Given the description of an element on the screen output the (x, y) to click on. 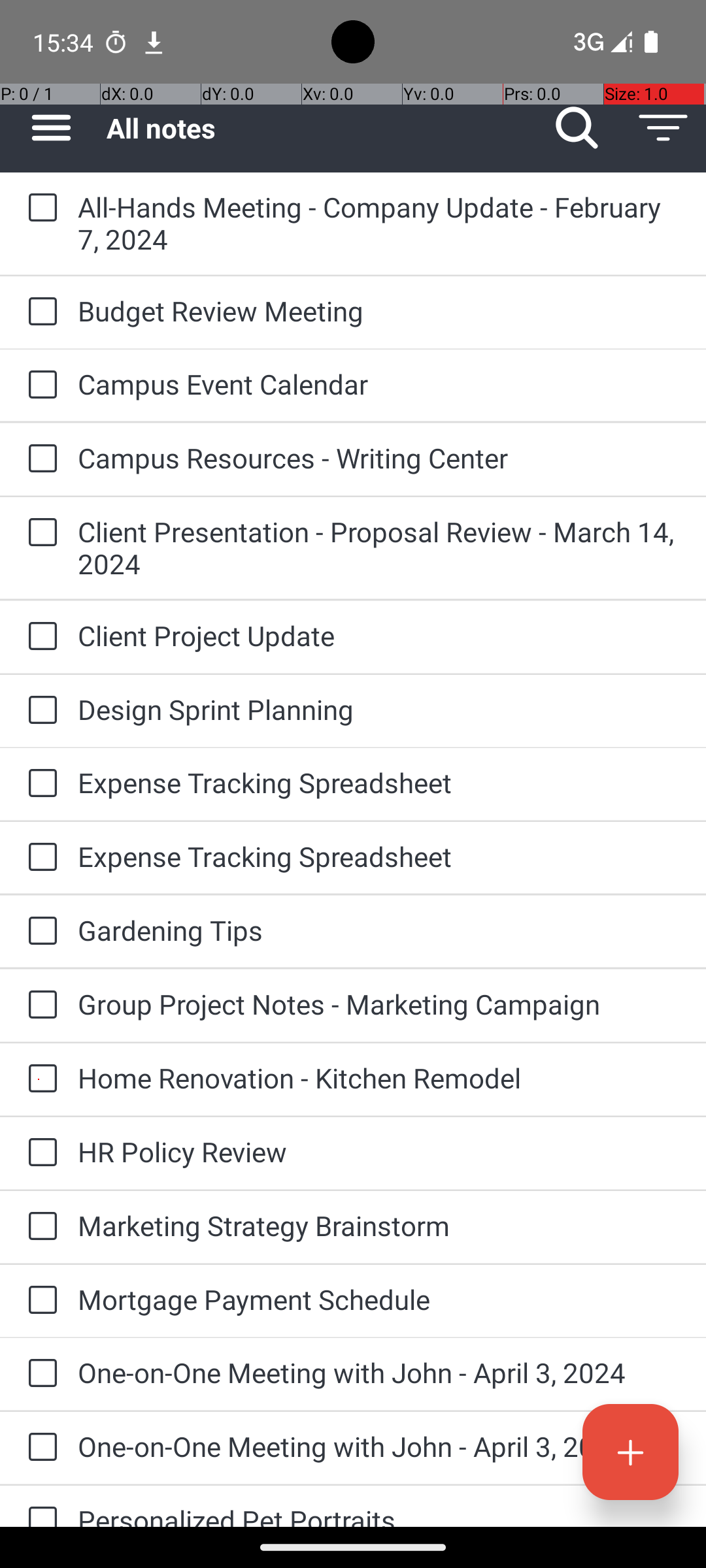
to-do: Campus Resources - Writing Center Element type: android.widget.CheckBox (38, 459)
Campus Resources - Writing Center Element type: android.widget.TextView (378, 457)
to-do: Client Presentation - Proposal Review - March 14, 2024 Element type: android.widget.CheckBox (38, 533)
Client Presentation - Proposal Review - March 14, 2024 Element type: android.widget.TextView (378, 547)
to-do: Home Renovation - Kitchen Remodel Element type: android.widget.CheckBox (38, 1079)
Home Renovation - Kitchen Remodel Element type: android.widget.TextView (378, 1077)
to-do: Marketing Strategy Brainstorm Element type: android.widget.CheckBox (38, 1226)
Marketing Strategy Brainstorm Element type: android.widget.TextView (378, 1224)
to-do: Personalized Pet Portraits Element type: android.widget.CheckBox (38, 1505)
Personalized Pet Portraits Element type: android.widget.TextView (378, 1513)
